Given the description of an element on the screen output the (x, y) to click on. 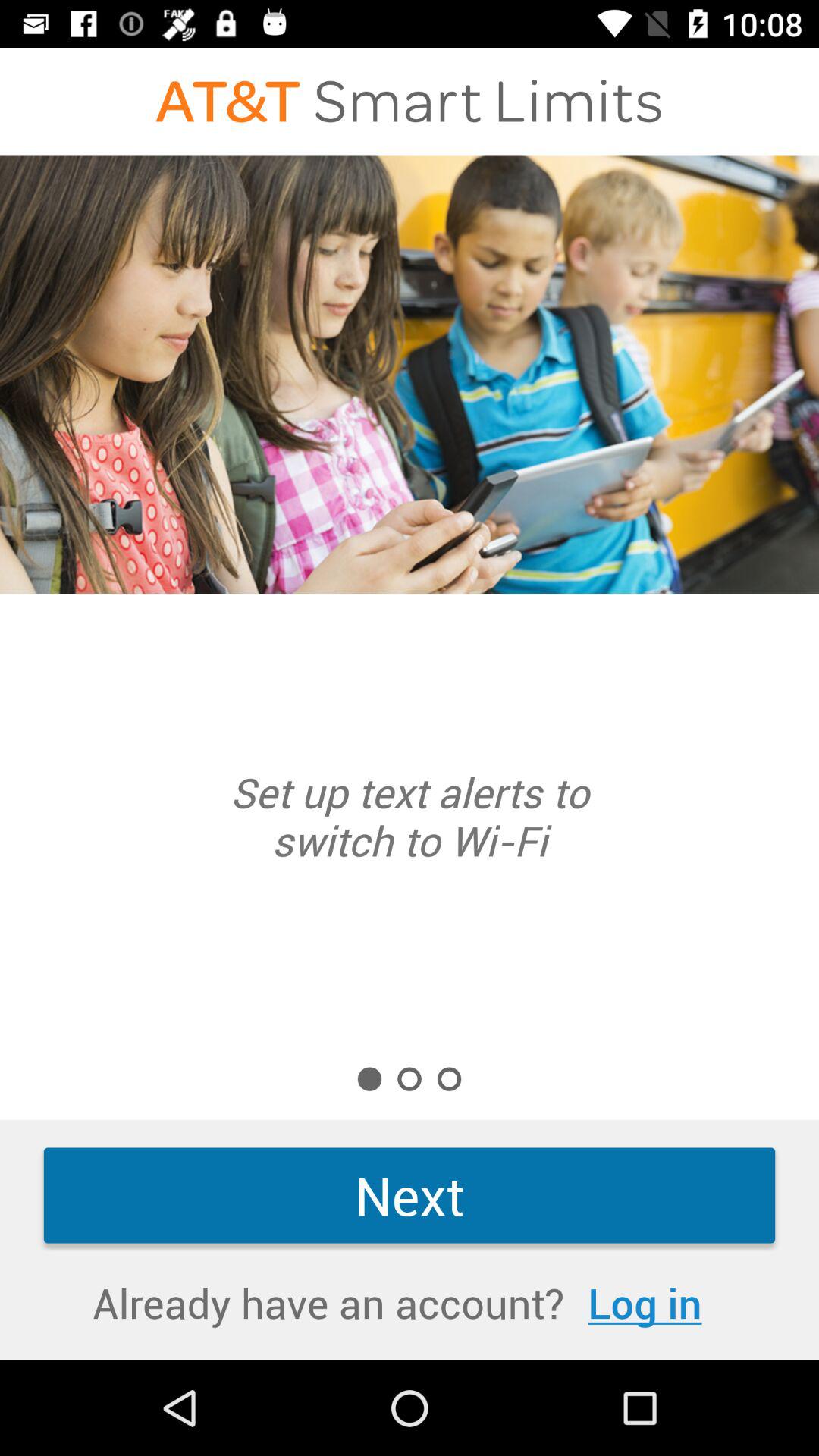
tap the item below the next (644, 1302)
